Given the description of an element on the screen output the (x, y) to click on. 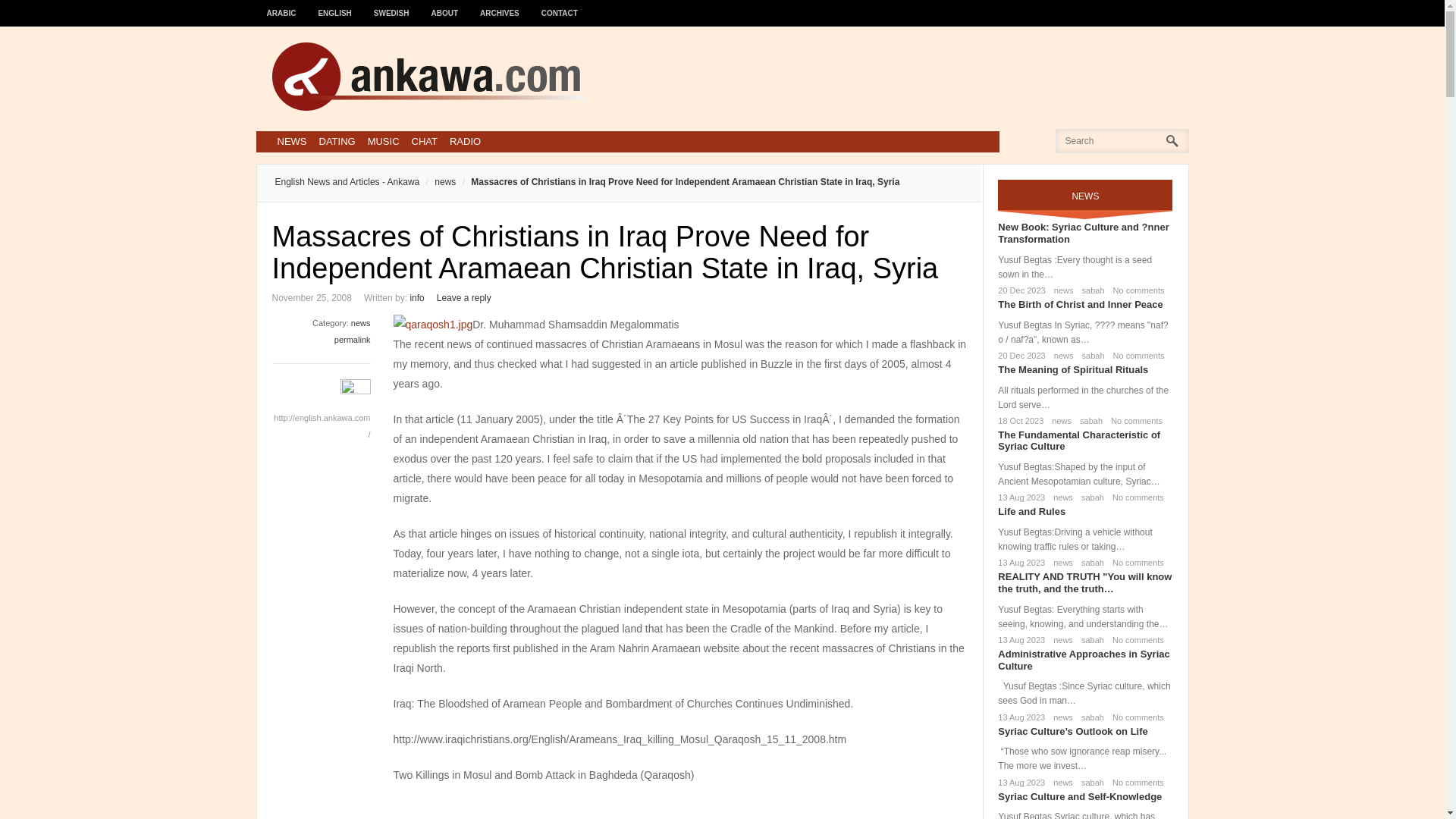
The Birth of Christ and Inner Peace (1079, 304)
The Fundamental Characteristic of Syriac Culture (1078, 440)
sabah (1088, 420)
Leave a reply (464, 297)
SWEDISH (391, 5)
No comments (1133, 420)
New Book: Syriac Culture and ?nner Transformation (1083, 232)
news (1061, 289)
permalink (352, 338)
ARABIC (281, 5)
ABOUT (445, 5)
Life and Rules (1031, 511)
New Book: Syriac Culture and ?nner Transformation (1083, 232)
news (437, 181)
English News and Articles - Ankawa (347, 181)
